Given the description of an element on the screen output the (x, y) to click on. 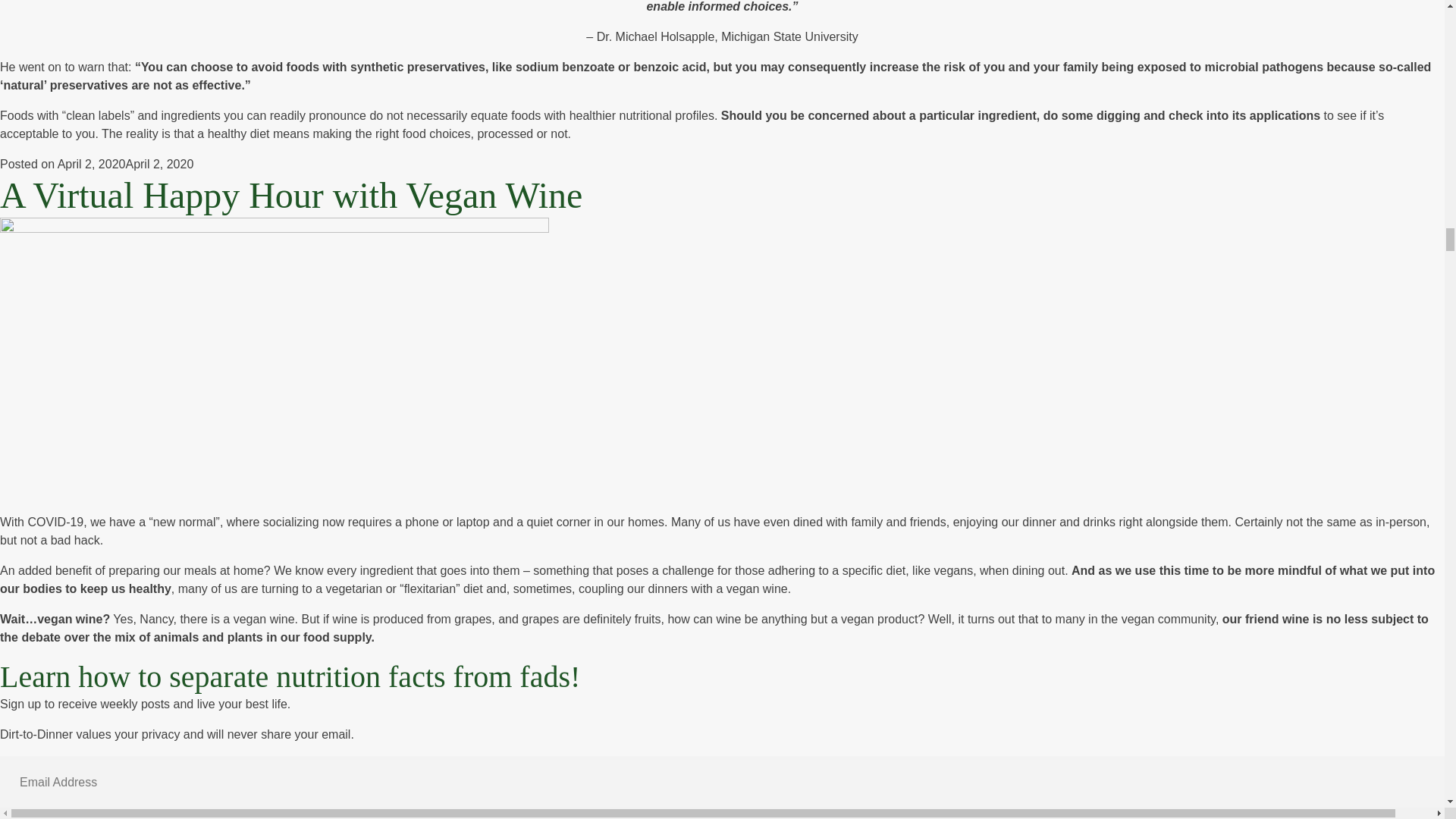
Yes, Sign me up! (51, 814)
